Given the description of an element on the screen output the (x, y) to click on. 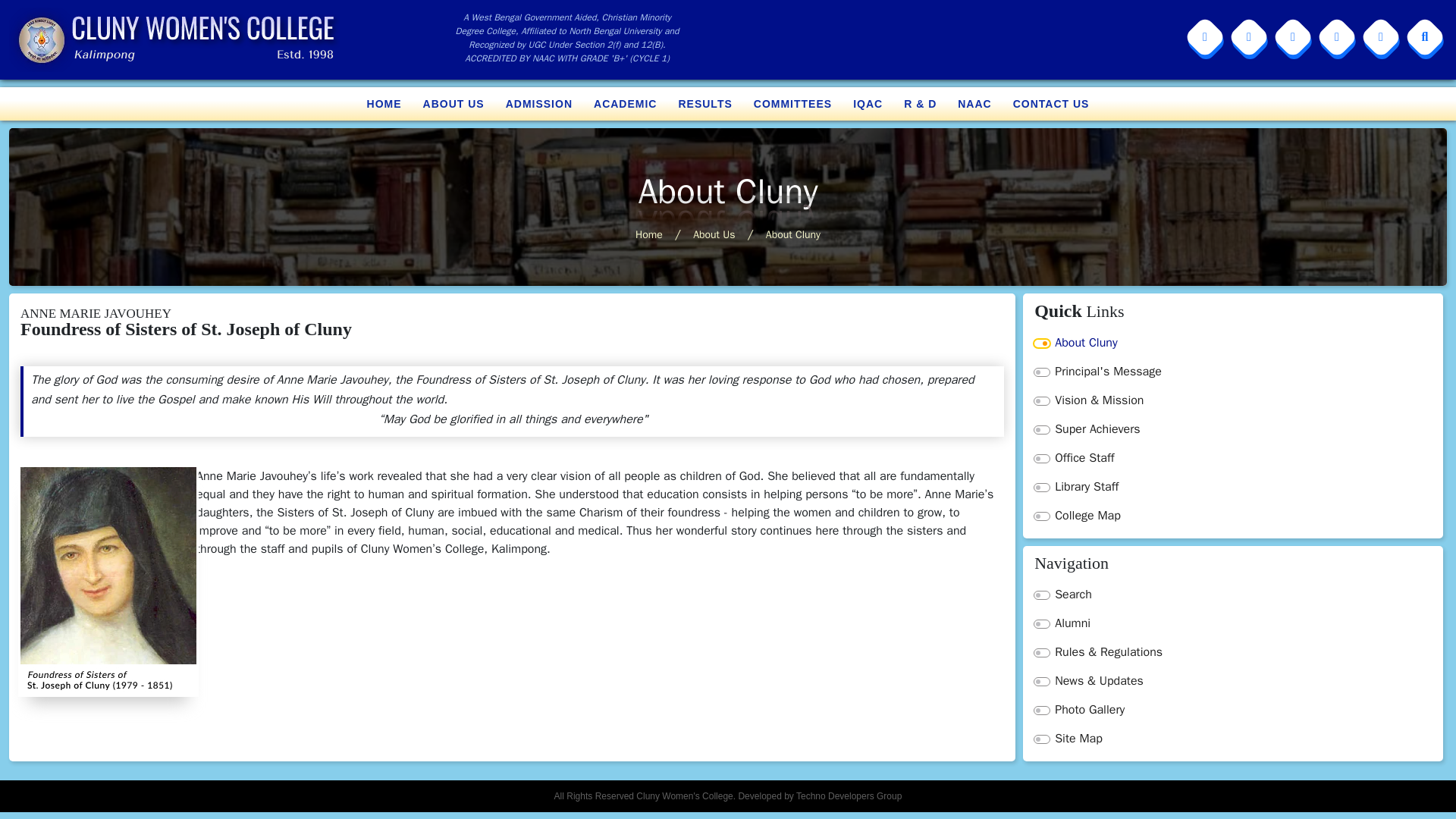
Site Map (1232, 738)
ABOUT US (453, 103)
Library Staff (1232, 486)
About Us (714, 234)
RESULTS (704, 103)
ADMISSION (539, 103)
Office Staff (1232, 457)
College Map (1232, 515)
About Cluny (1232, 342)
Super Achievers (1232, 429)
Alumni (1232, 623)
COMMITTEES (792, 103)
ACADEMIC (624, 103)
Principal's Message (1232, 370)
Search (1232, 594)
